Given the description of an element on the screen output the (x, y) to click on. 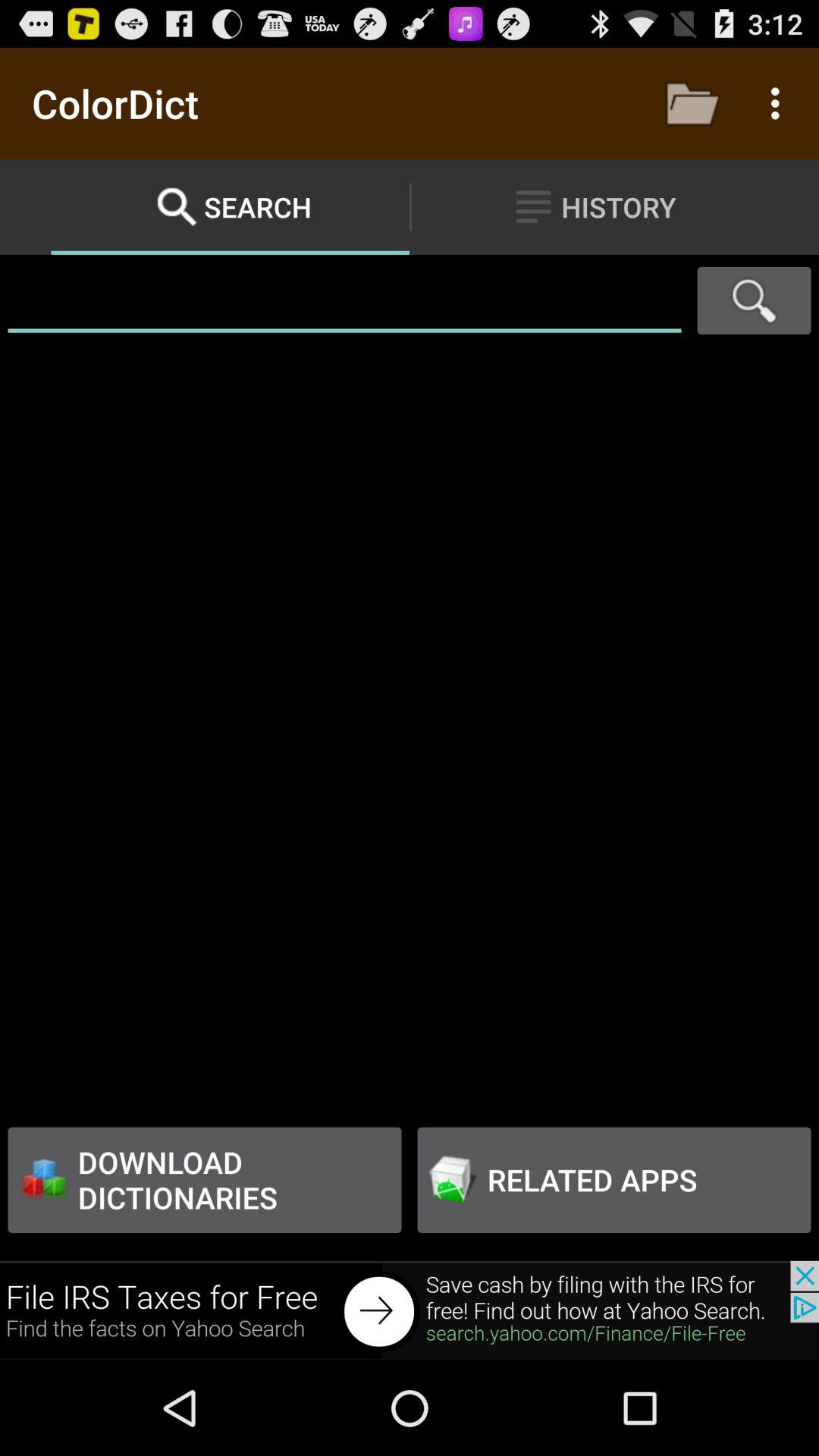
advertisement (409, 1310)
